Given the description of an element on the screen output the (x, y) to click on. 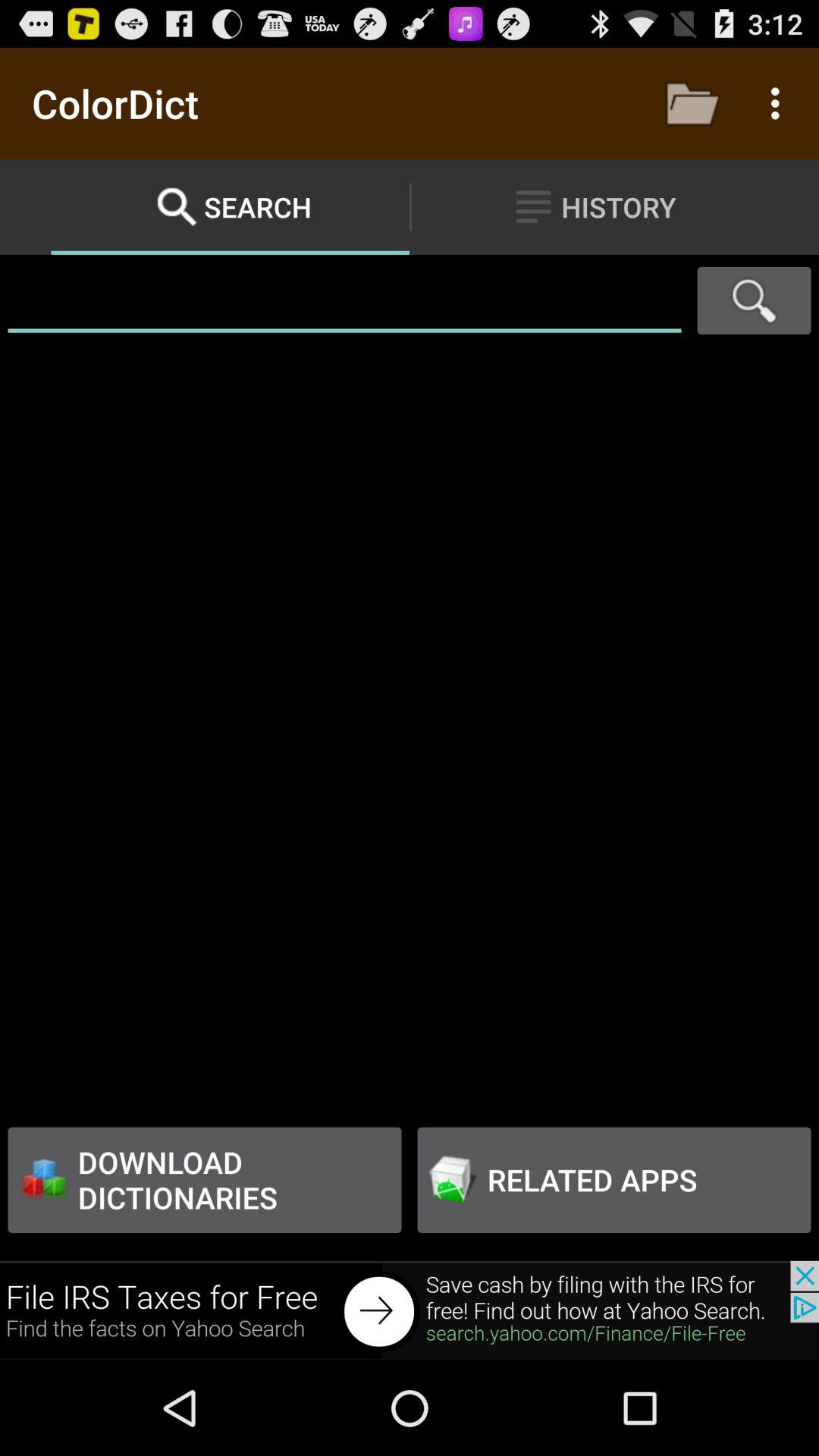
advertisement (409, 1310)
